Given the description of an element on the screen output the (x, y) to click on. 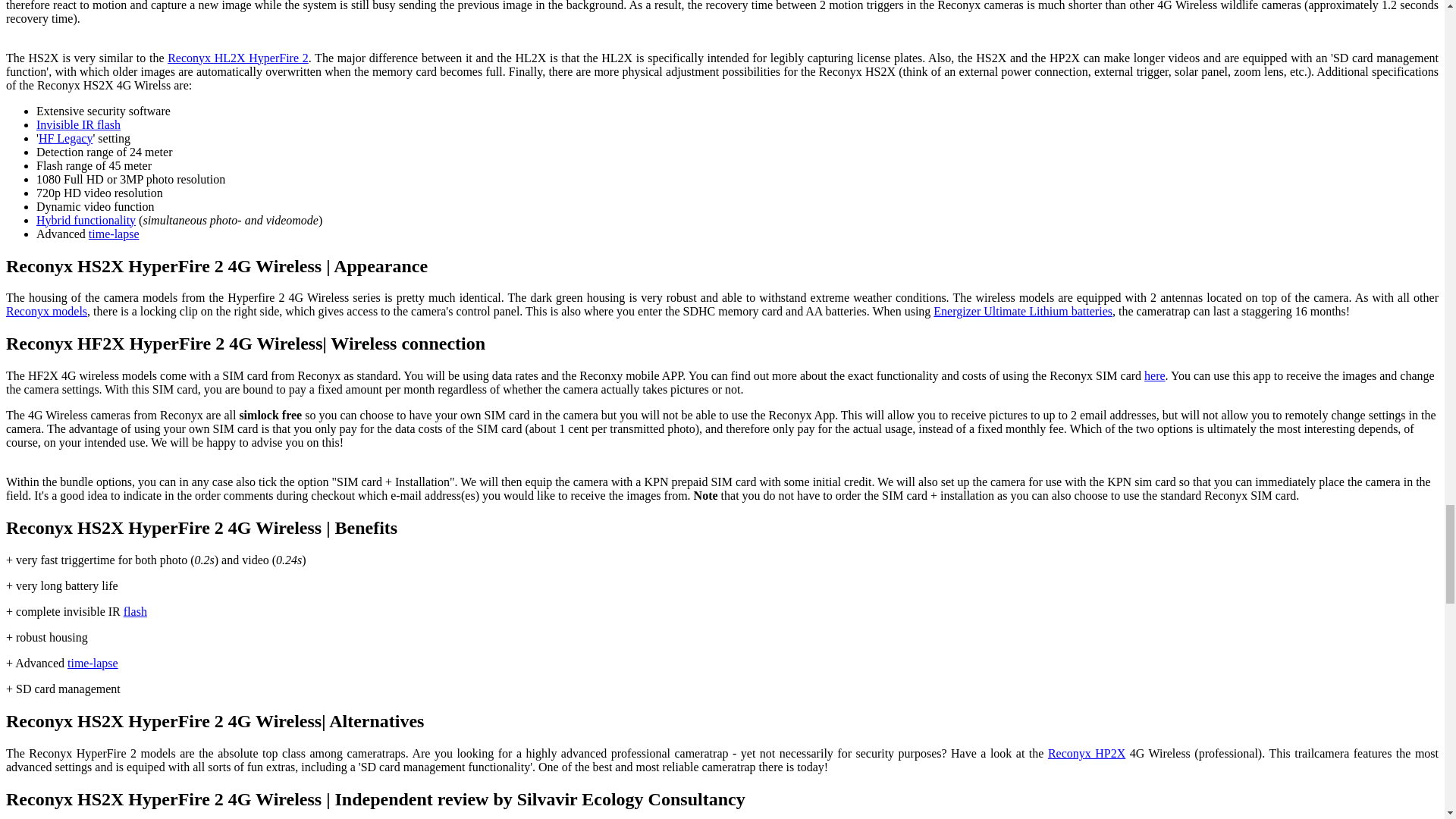
HF Legacy (66, 137)
flash (135, 611)
Reconyx HL2X HyperFire 2 LICENSE PLATE CAMERA - 4G WIRELESS (237, 57)
hybrid (85, 219)
flash (78, 124)
reconyx models (46, 310)
timelapse (113, 233)
Energizer Ultimate Lithium batteries (1022, 310)
